Given the description of an element on the screen output the (x, y) to click on. 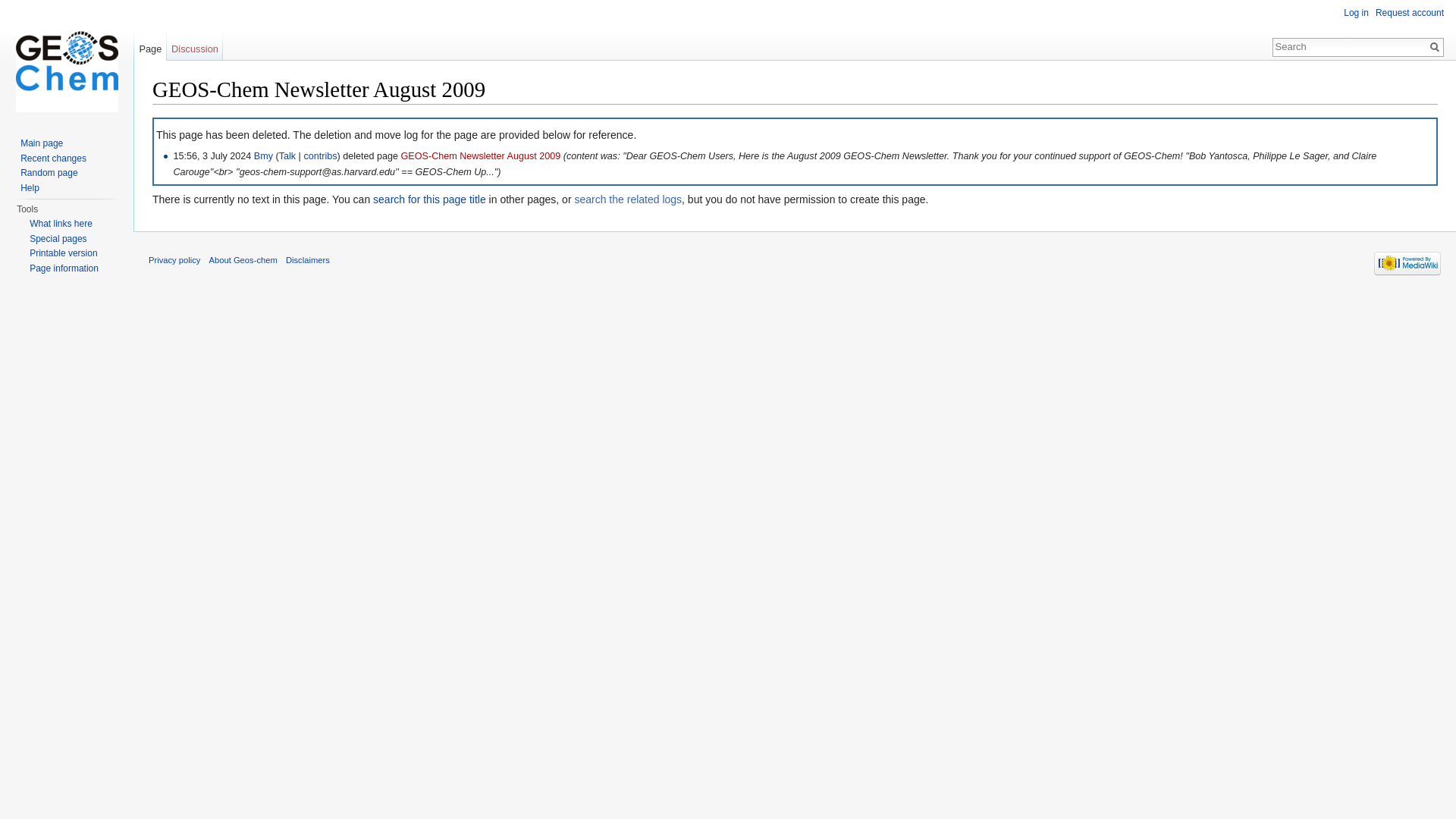
search the related logs (627, 199)
Disclaimers (307, 258)
Help (29, 186)
Page information (64, 267)
Go (1434, 46)
Page (150, 45)
contribs (319, 155)
Talk (287, 155)
Go to a page with this exact name if exists (1434, 46)
User talk:Bmy (287, 155)
